Given the description of an element on the screen output the (x, y) to click on. 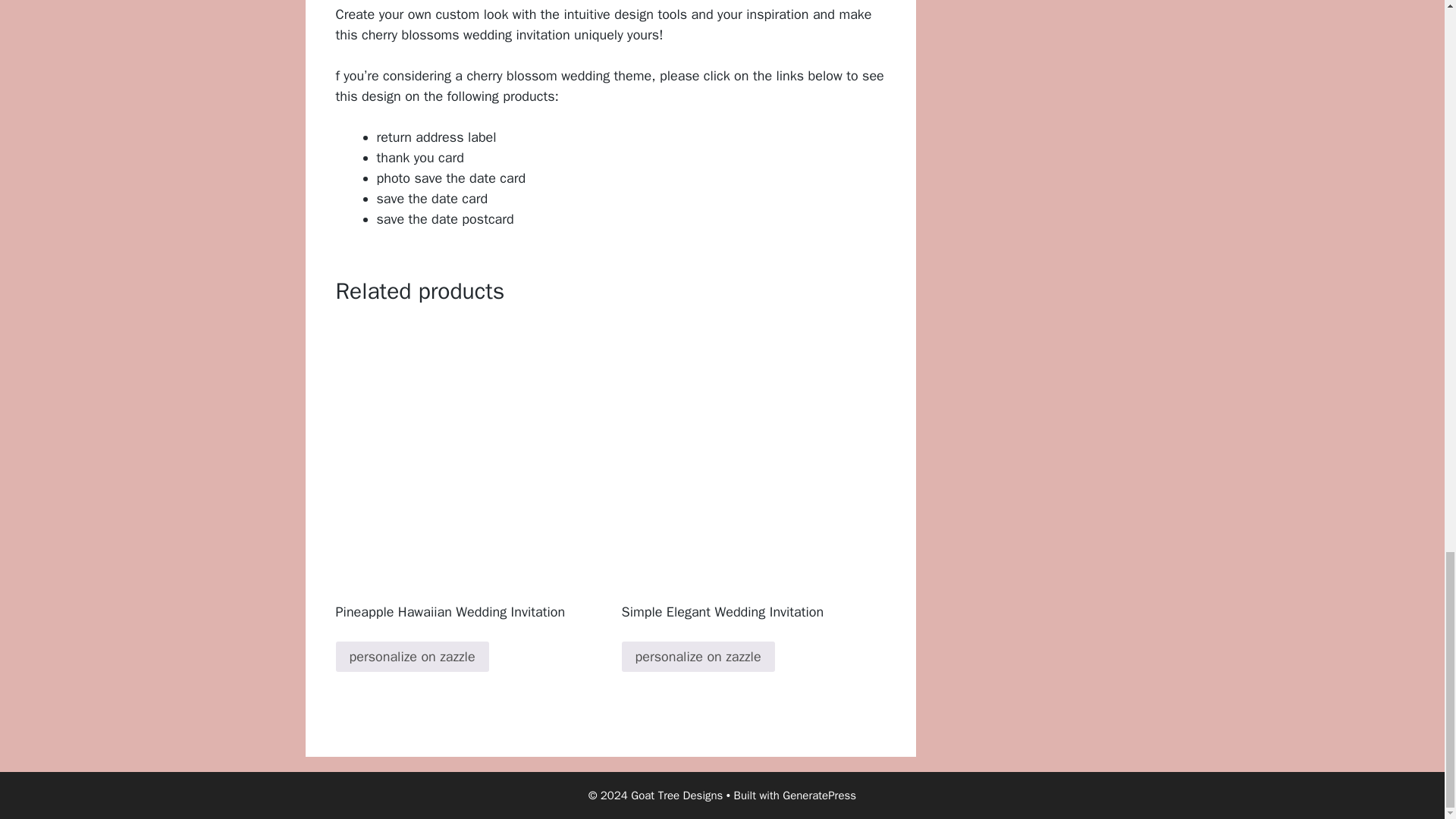
save the date postcard (444, 218)
personalize on zazzle (410, 656)
save the date card (431, 198)
return address label (435, 136)
personalize on zazzle (697, 656)
photo save the date card (450, 177)
thank you card (419, 157)
